Given the description of an element on the screen output the (x, y) to click on. 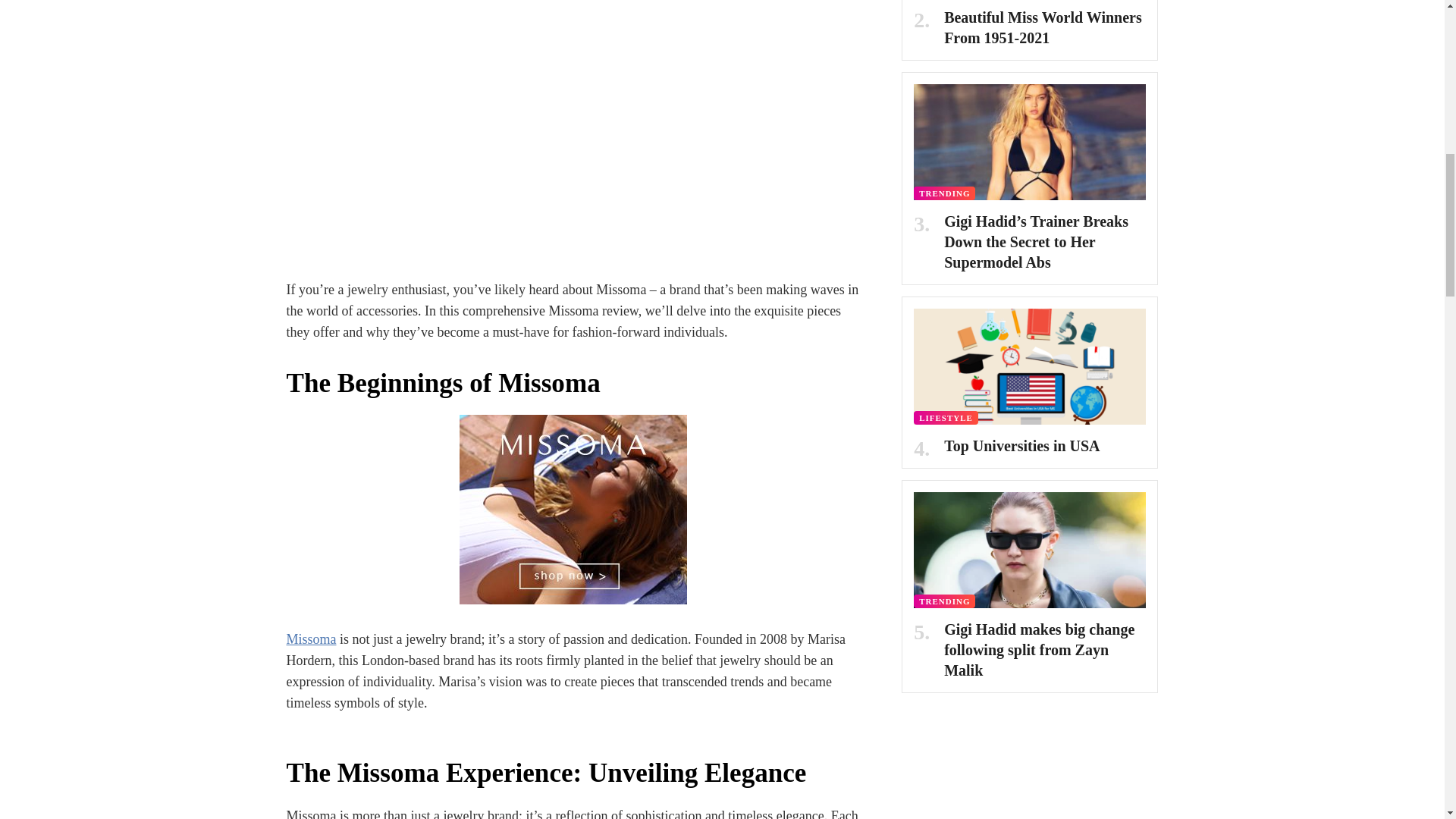
Missoma (311, 639)
Missoma Review: Discover Luxury Jewelry for Every Occasion (573, 509)
